Given the description of an element on the screen output the (x, y) to click on. 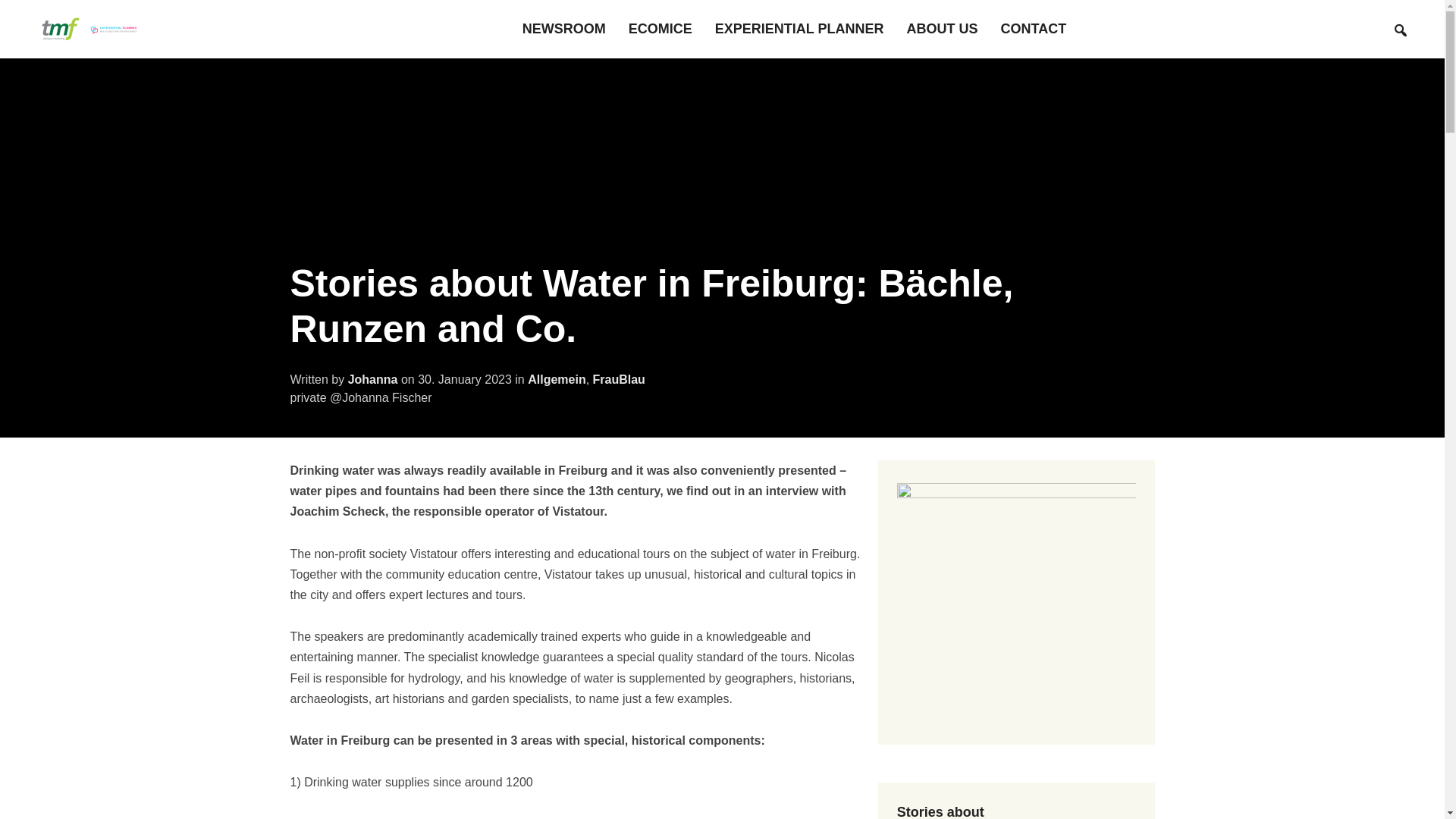
EXPERIENTIAL PLANNER (798, 29)
CONTACT (1034, 29)
Posts by Johanna (372, 379)
ECOMICE (660, 29)
FrauBlau (618, 379)
ABOUT US (942, 29)
Johanna (372, 379)
Allgemein (556, 379)
Search (1400, 30)
NEWSROOM (563, 29)
